Given the description of an element on the screen output the (x, y) to click on. 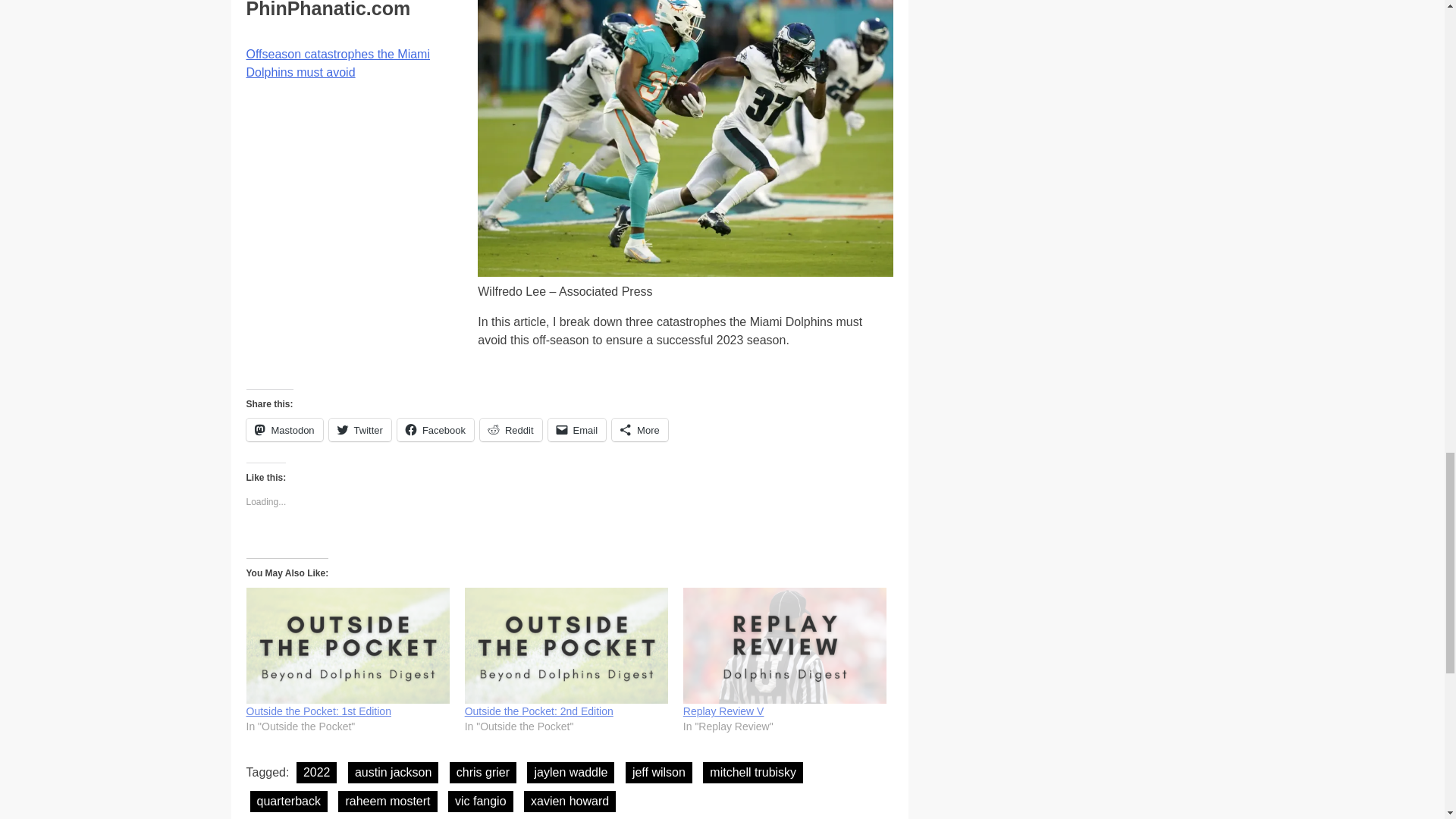
Click to share on Reddit (510, 429)
Outside the Pocket: 1st Edition (347, 645)
Click to share on Mastodon (283, 429)
Click to email a link to a friend (577, 429)
Outside the Pocket: 1st Edition (318, 711)
Click to share on Twitter (360, 429)
Offseason catastrophes the Miami Dolphins must avoid (337, 62)
Click to share on Facebook (435, 429)
